Given the description of an element on the screen output the (x, y) to click on. 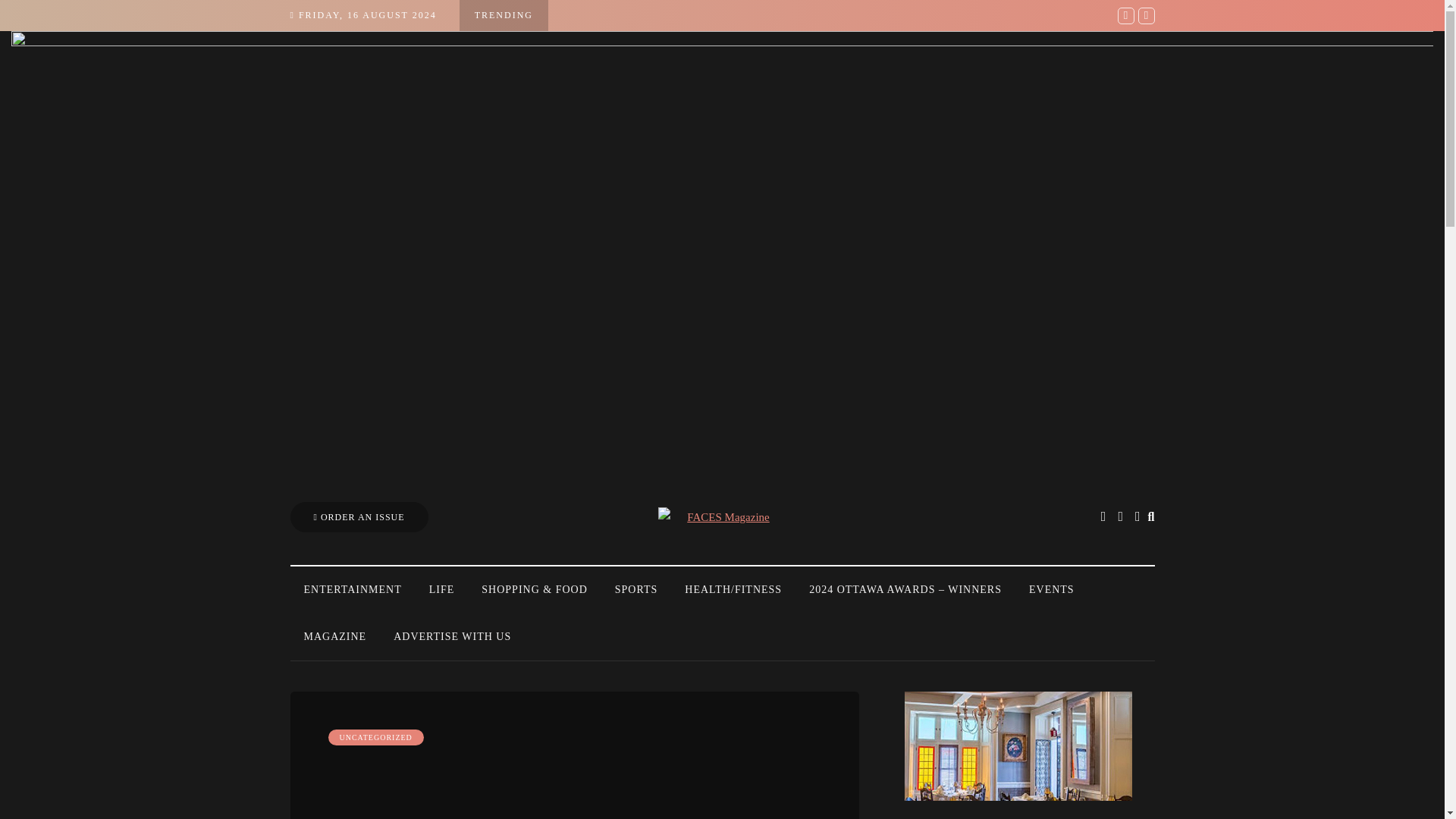
EVENTS (1050, 589)
UNCATEGORIZED (375, 737)
MAGAZINE (334, 636)
LIFE (441, 589)
SPORTS (636, 589)
ENTERTAINMENT (351, 589)
ADVERTISE WITH US (452, 636)
ORDER AN ISSUE (358, 517)
